Given the description of an element on the screen output the (x, y) to click on. 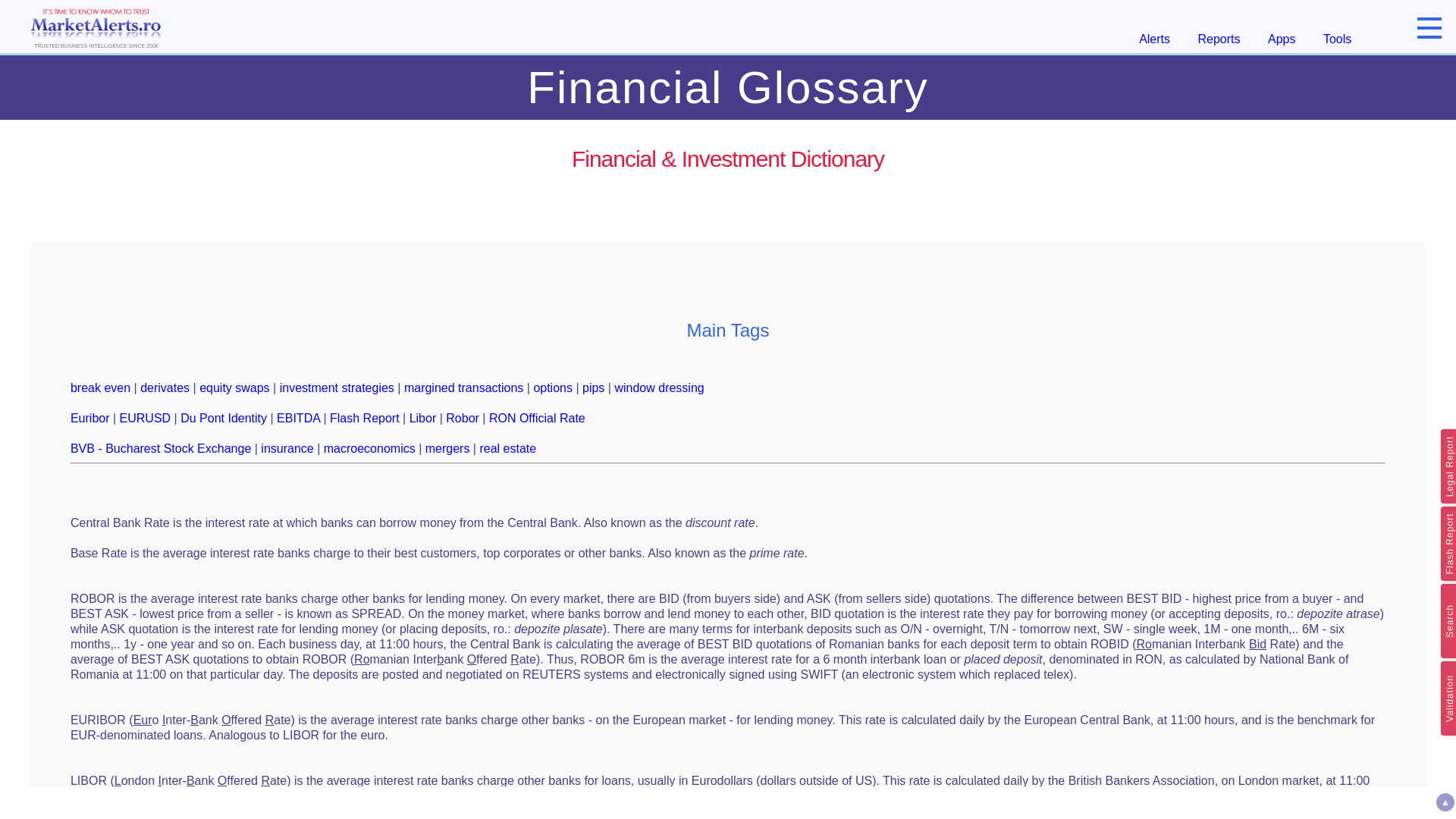
BVB - Bucharest Stock Exchange (159, 448)
EBITDA (298, 418)
margined transactions (463, 387)
macroeconomics (368, 448)
Apps (1281, 38)
investment strategies (336, 387)
Du Pont Identity (223, 418)
Euribor (89, 418)
RON Official Rate (537, 418)
EURUSD (145, 418)
real estate (507, 448)
Tools (1337, 38)
window dressing (658, 387)
insurance (286, 448)
equity swaps (234, 387)
